Given the description of an element on the screen output the (x, y) to click on. 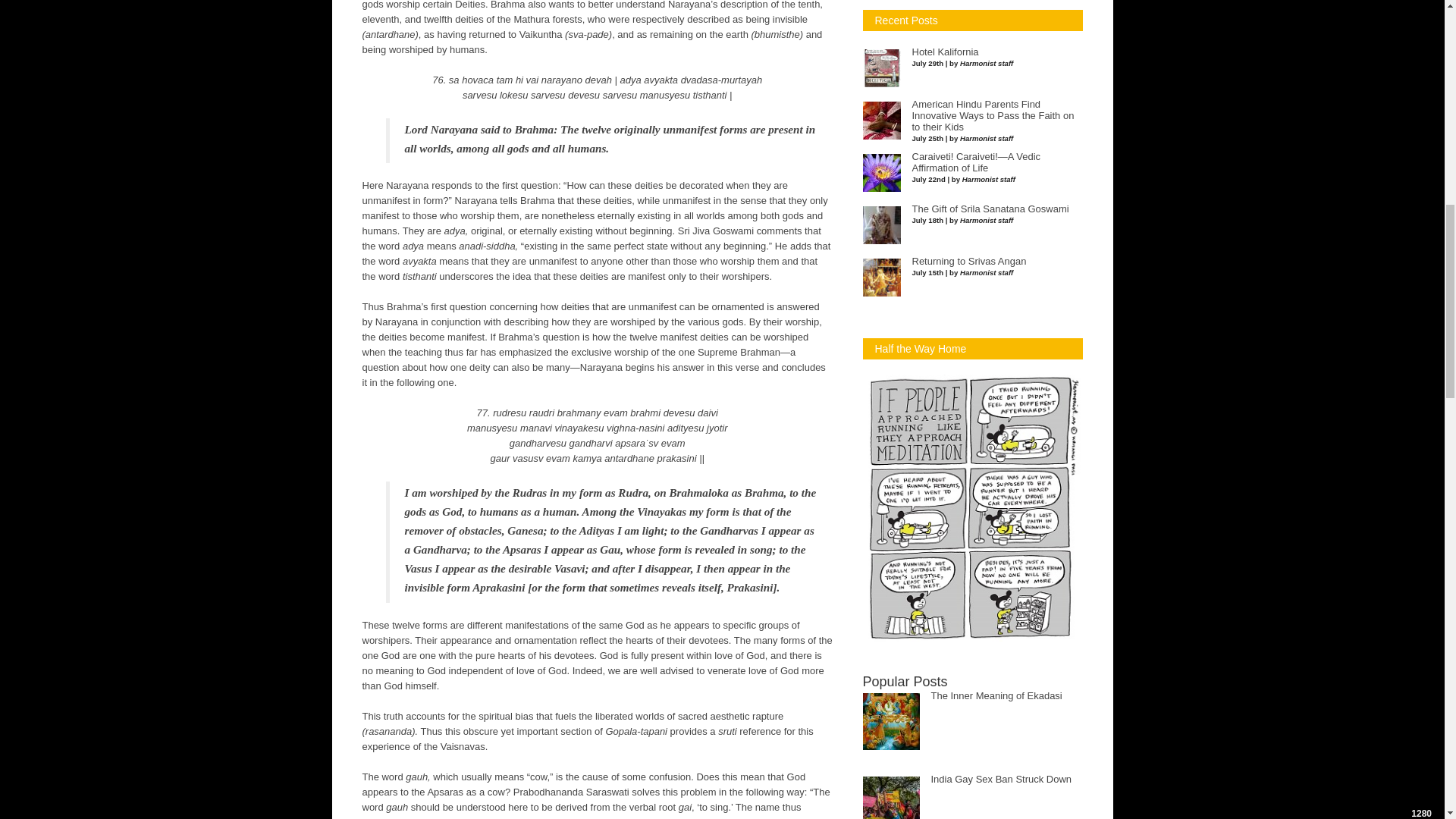
The Gift of Srila Sanatana Goswami (989, 208)
Hotel Kalifornia (944, 51)
